Given the description of an element on the screen output the (x, y) to click on. 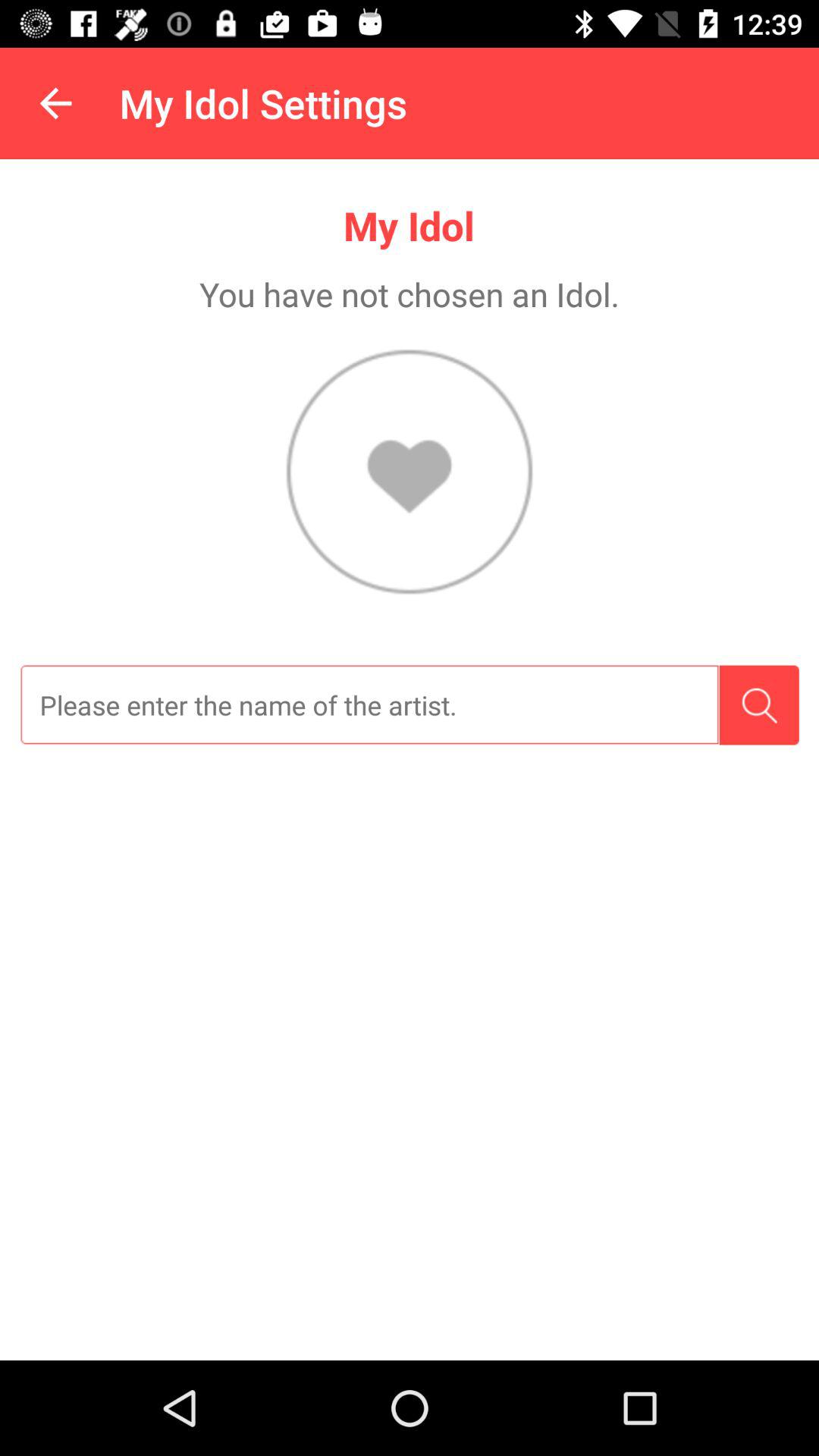
tap the icon to the left of the my idol settings item (55, 103)
